Given the description of an element on the screen output the (x, y) to click on. 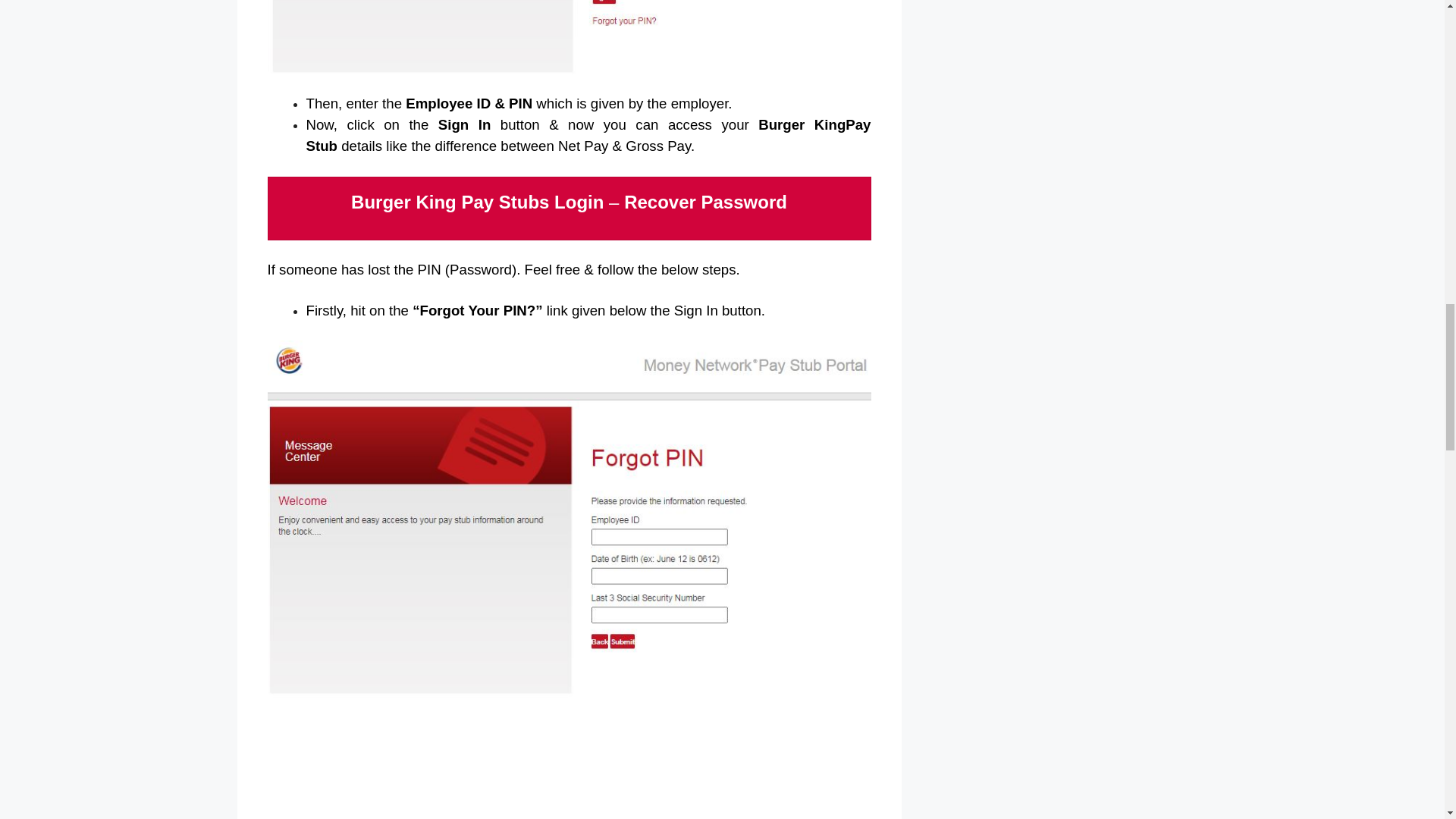
Advertisement (568, 767)
